Given the description of an element on the screen output the (x, y) to click on. 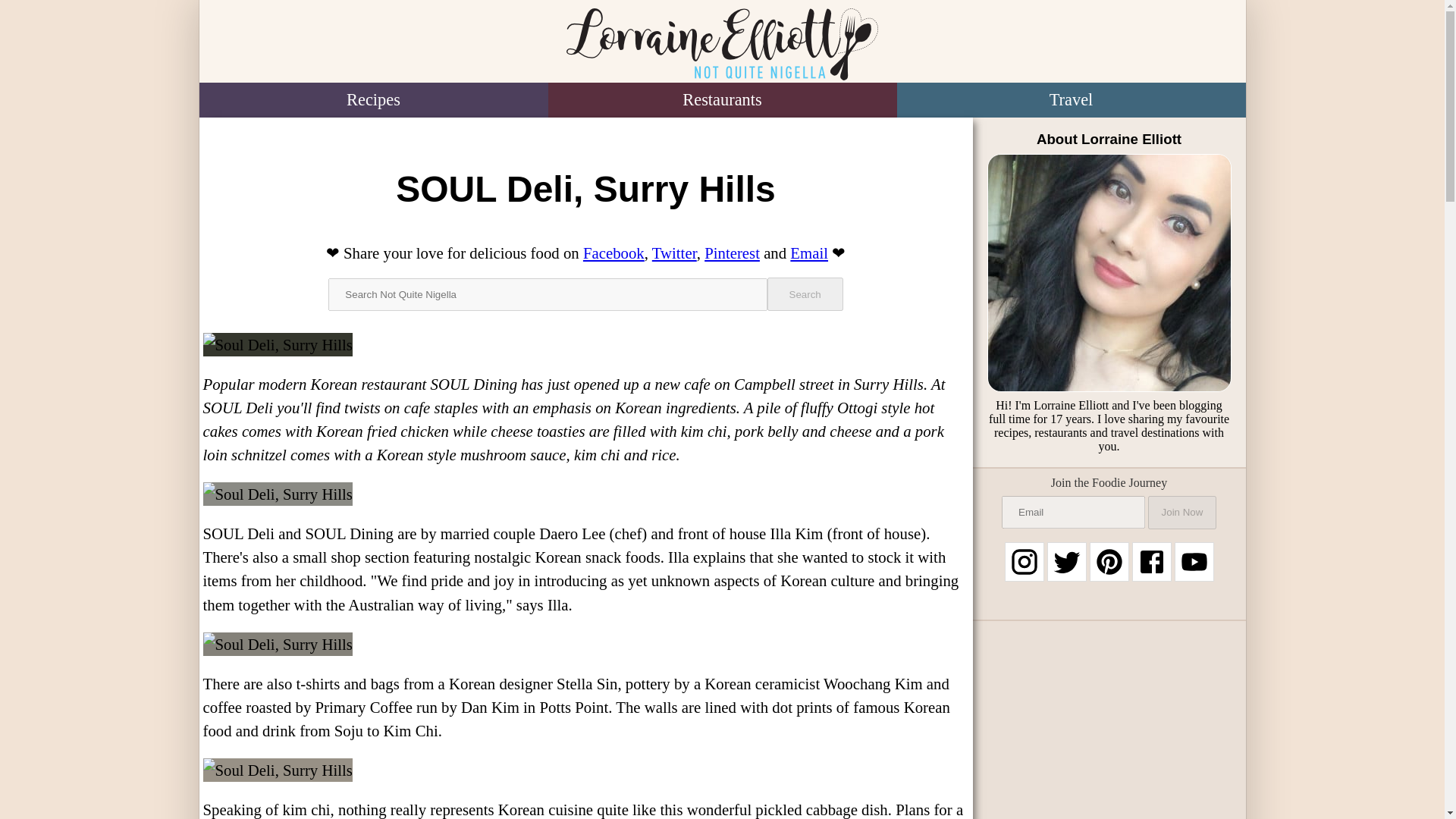
Travel (1070, 99)
Search (805, 294)
Tweet (674, 252)
Share on Facebook (614, 252)
Email (809, 252)
Search (805, 294)
Pinterest (732, 252)
Pin it (732, 252)
Join Now (1181, 512)
Email (809, 252)
Twitter (674, 252)
Facebook (614, 252)
delicious food (513, 252)
Recipes (372, 99)
